Given the description of an element on the screen output the (x, y) to click on. 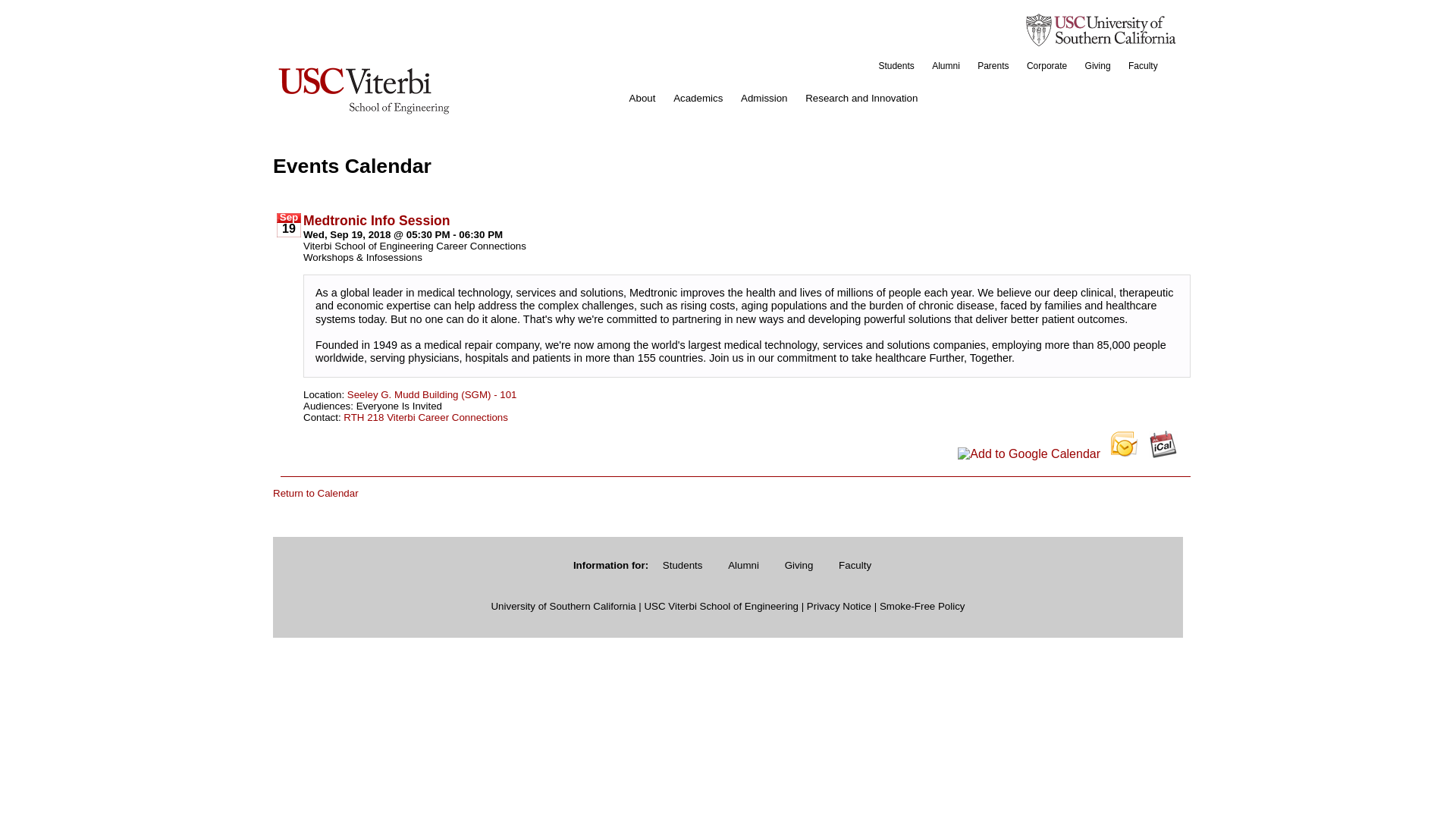
Corporate (1046, 65)
Giving (1097, 65)
About (642, 98)
Smoke-Free Policy (922, 605)
Viterbi School of Engineering (363, 89)
Academics (697, 98)
Faculty (854, 565)
USC Viterbi School of Engineering (720, 605)
Return to Calendar (315, 492)
19 (288, 228)
Alumni (743, 565)
Sep (288, 216)
Send Email to  RTH 218 Viterbi Career Connections (425, 416)
RTH 218 Viterbi Career Connections (425, 416)
Medtronic Info Session (375, 219)
